Given the description of an element on the screen output the (x, y) to click on. 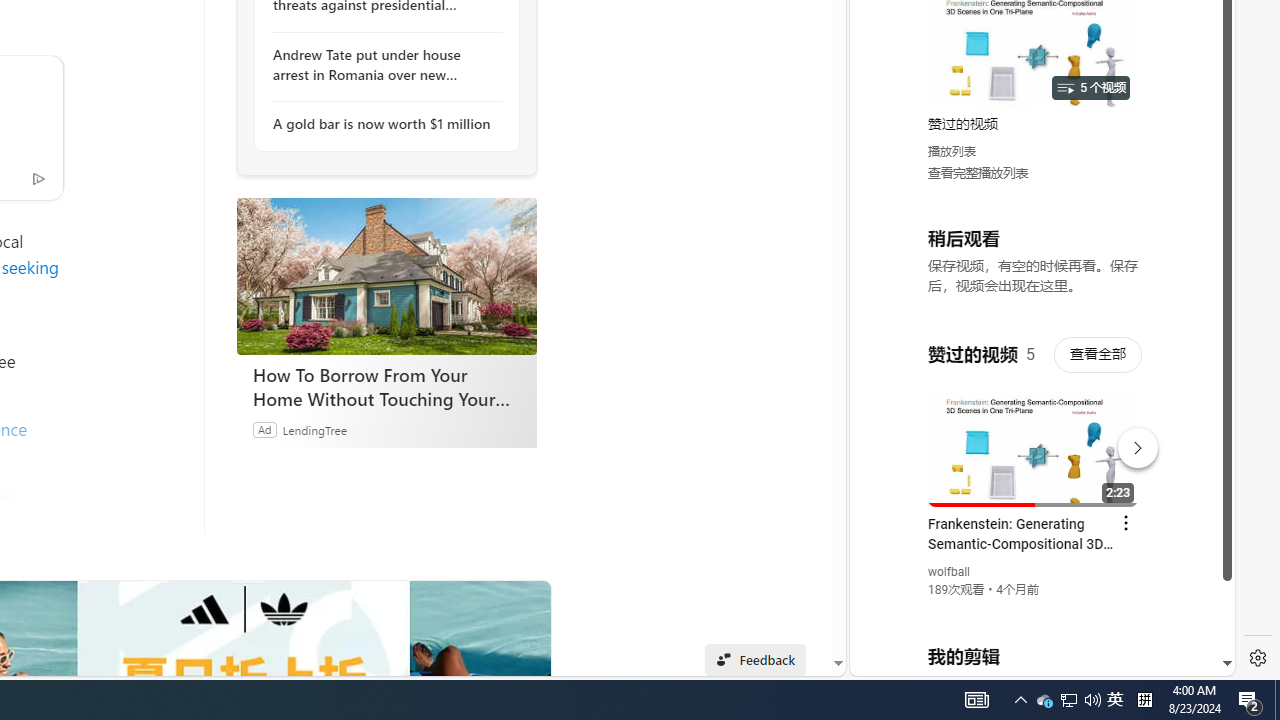
Global web icon (888, 432)
Actions for this site (1131, 443)
#you (1034, 439)
Ad (264, 429)
Settings (1258, 658)
How To Borrow From Your Home Without Touching Your Mortgage (386, 386)
A gold bar is now worth $1 million (381, 124)
you (1034, 609)
LendingTree (313, 429)
Click to scroll right (1196, 83)
